Given the description of an element on the screen output the (x, y) to click on. 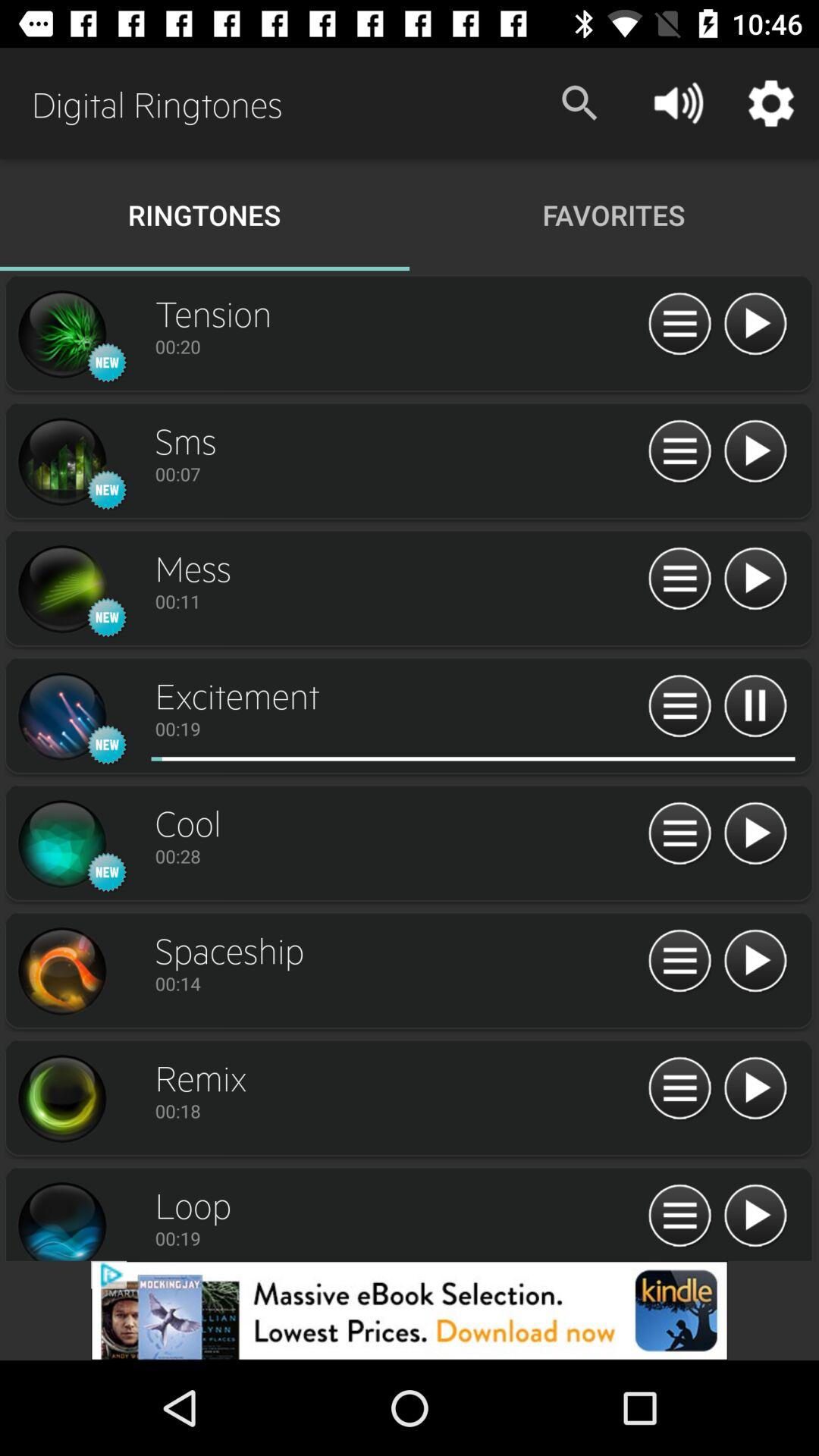
play ringtone (755, 834)
